Given the description of an element on the screen output the (x, y) to click on. 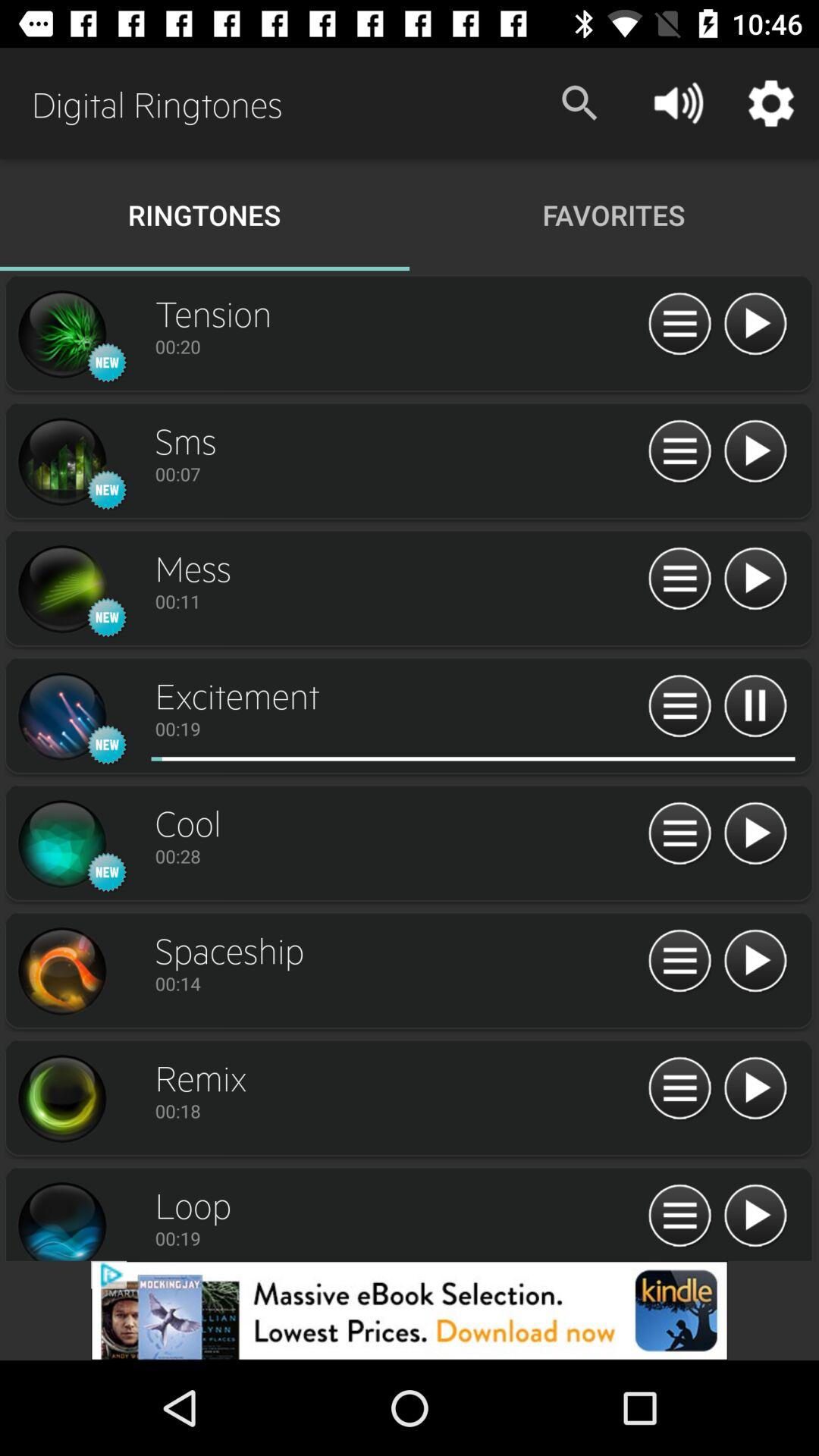
play ringtone (755, 834)
